Given the description of an element on the screen output the (x, y) to click on. 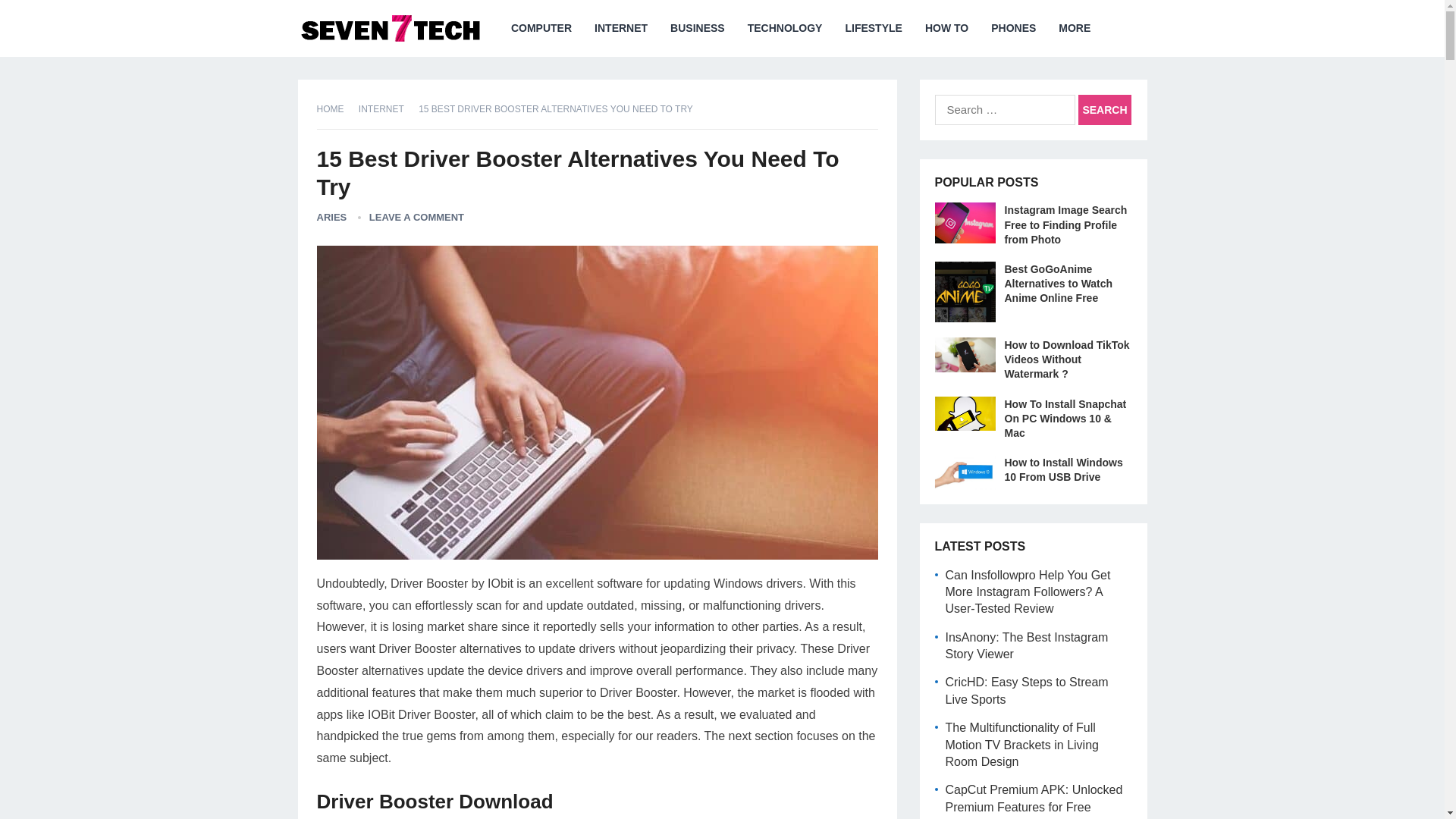
LIFESTYLE (872, 28)
BUSINESS (697, 28)
View all posts in Internet (386, 109)
Posts by Aries (332, 216)
PHONES (1012, 28)
INTERNET (621, 28)
TECHNOLOGY (785, 28)
HOME (336, 109)
ARIES (332, 216)
COMPUTER (541, 28)
LEAVE A COMMENT (416, 216)
MORE (1074, 28)
Search (1104, 110)
HOW TO (946, 28)
Search (1104, 110)
